Given the description of an element on the screen output the (x, y) to click on. 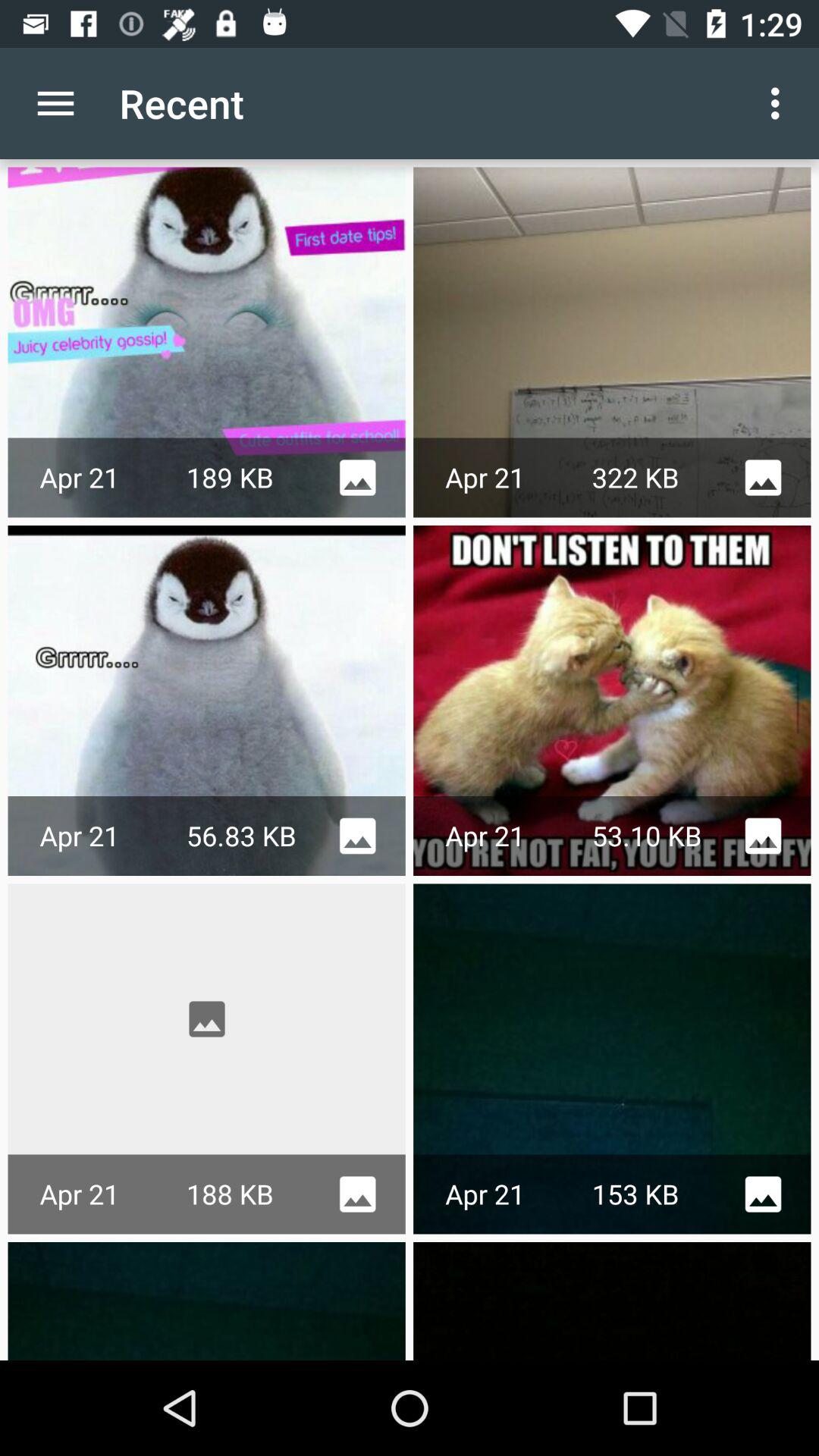
launch app next to the recent icon (779, 103)
